Given the description of an element on the screen output the (x, y) to click on. 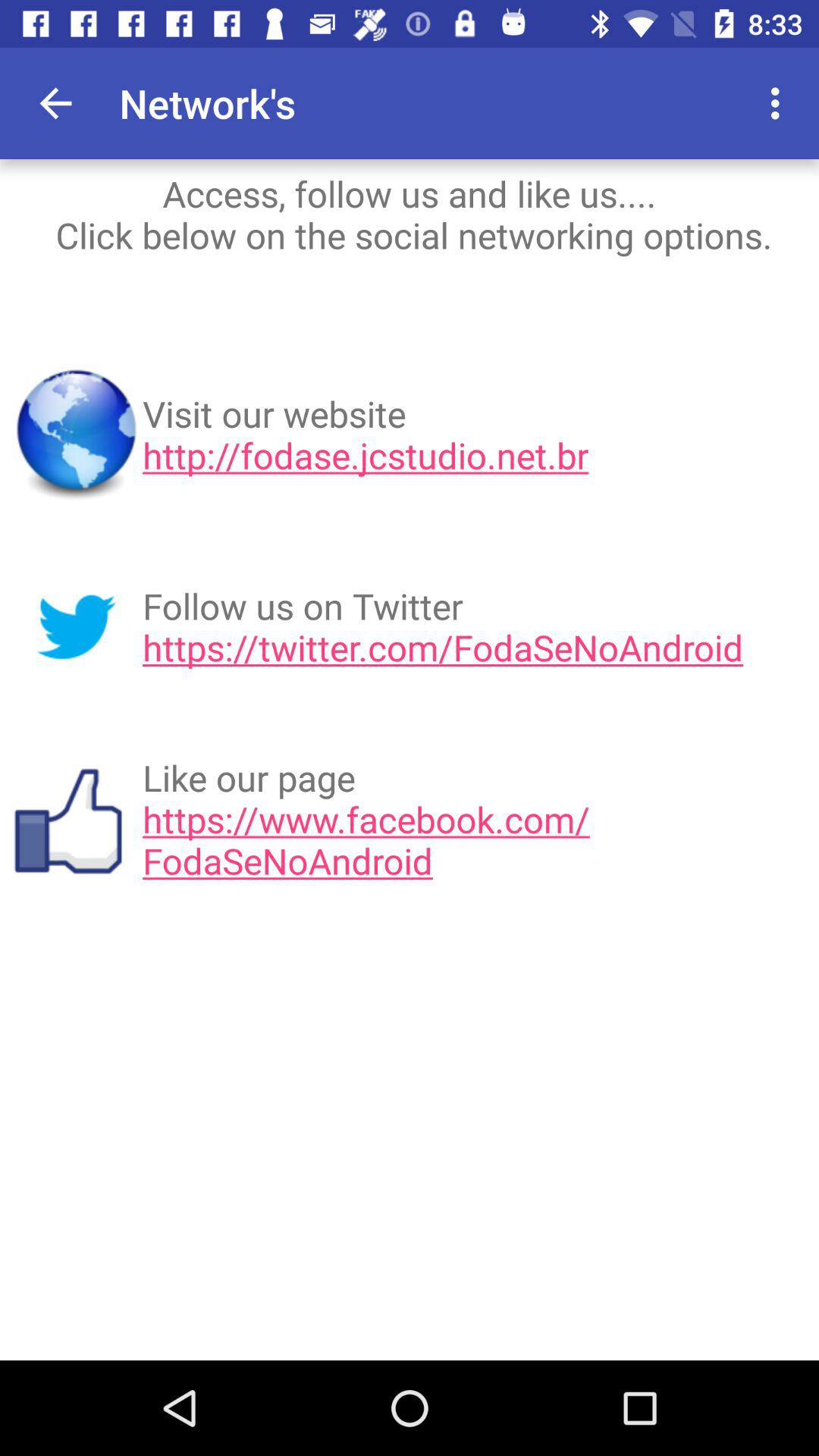
launch the item below access follow us (475, 434)
